Given the description of an element on the screen output the (x, y) to click on. 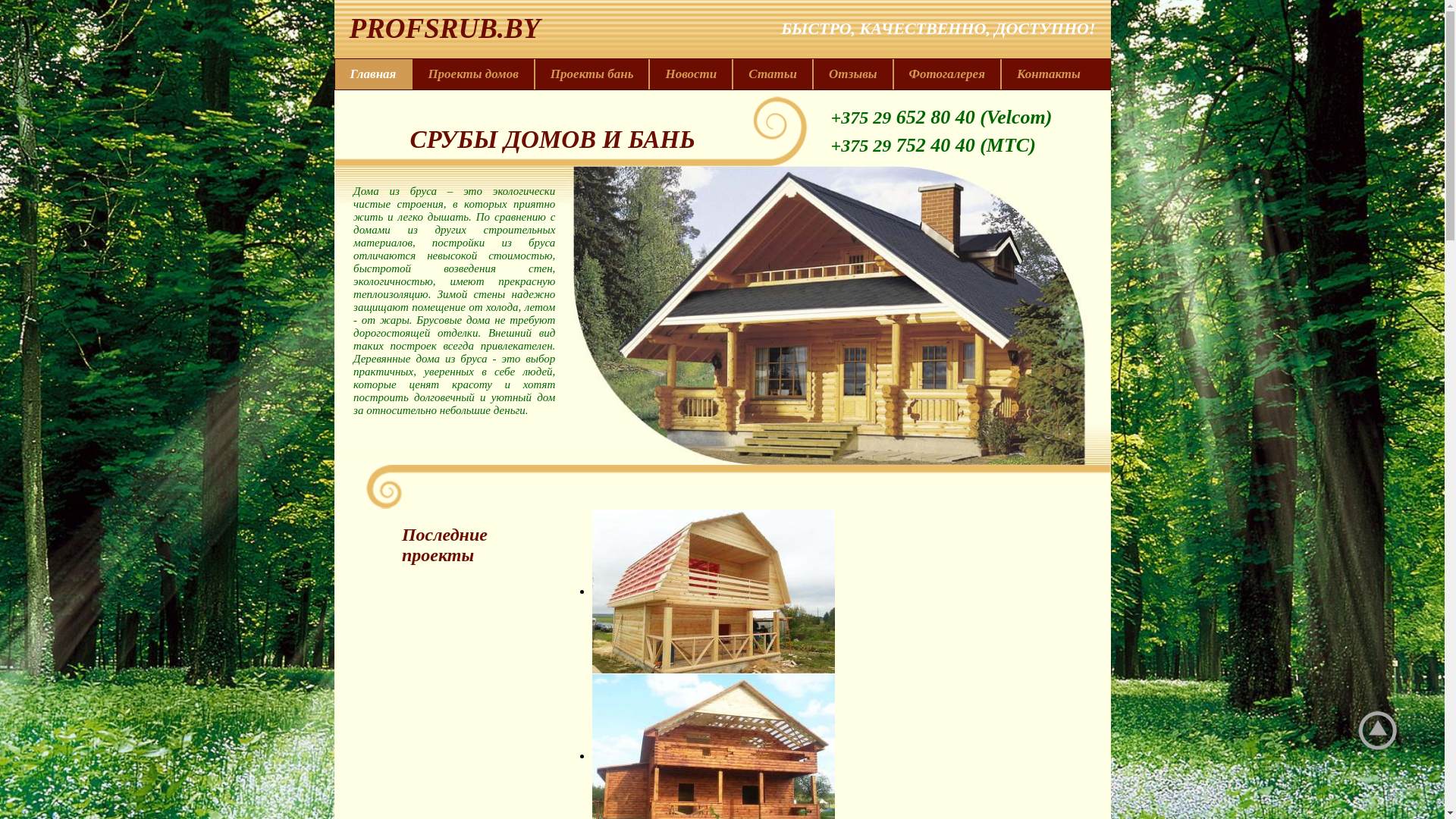
PROFSRUB.BY Element type: text (436, 27)
